Given the description of an element on the screen output the (x, y) to click on. 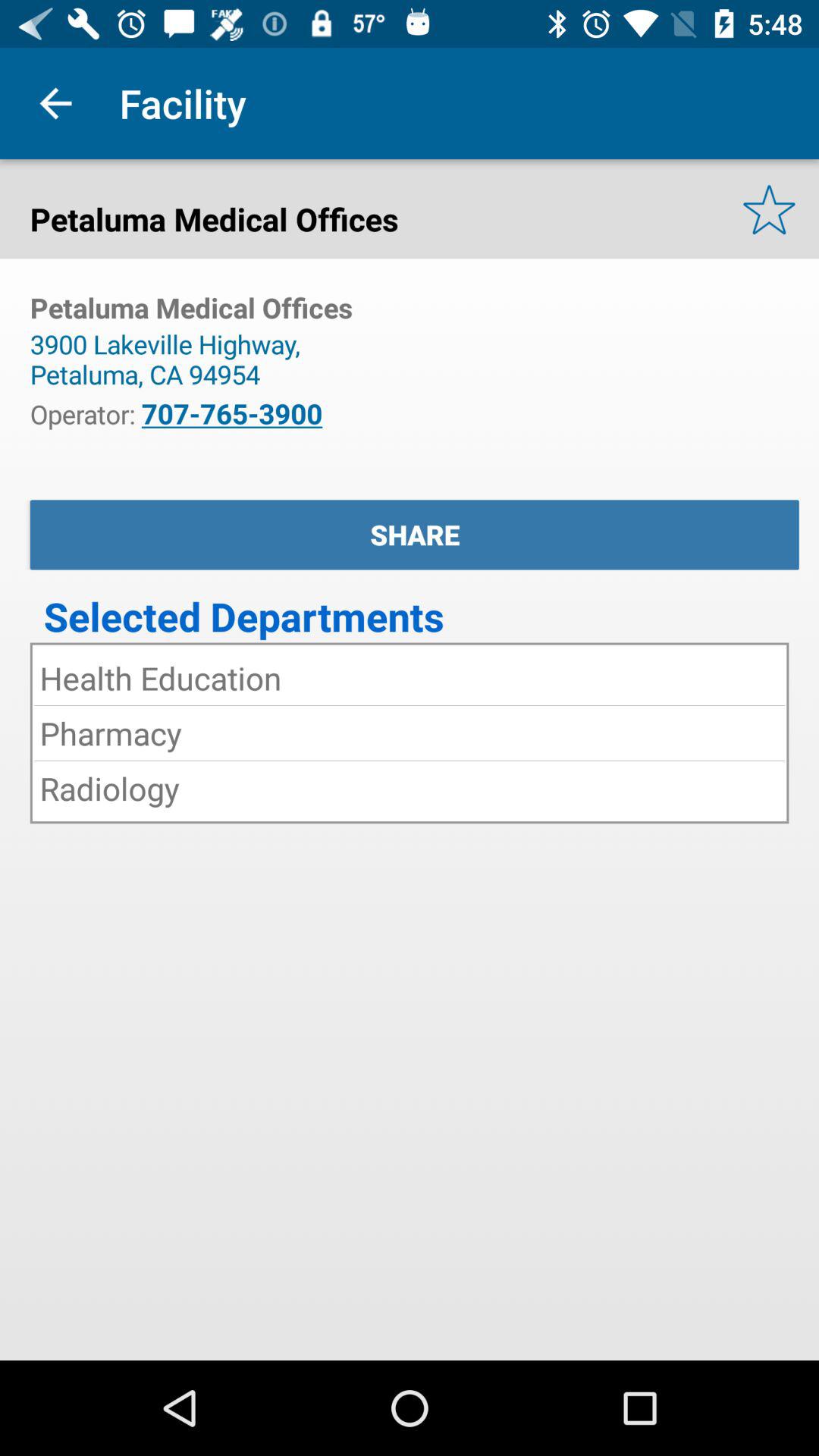
tap app below the   icon (414, 534)
